Given the description of an element on the screen output the (x, y) to click on. 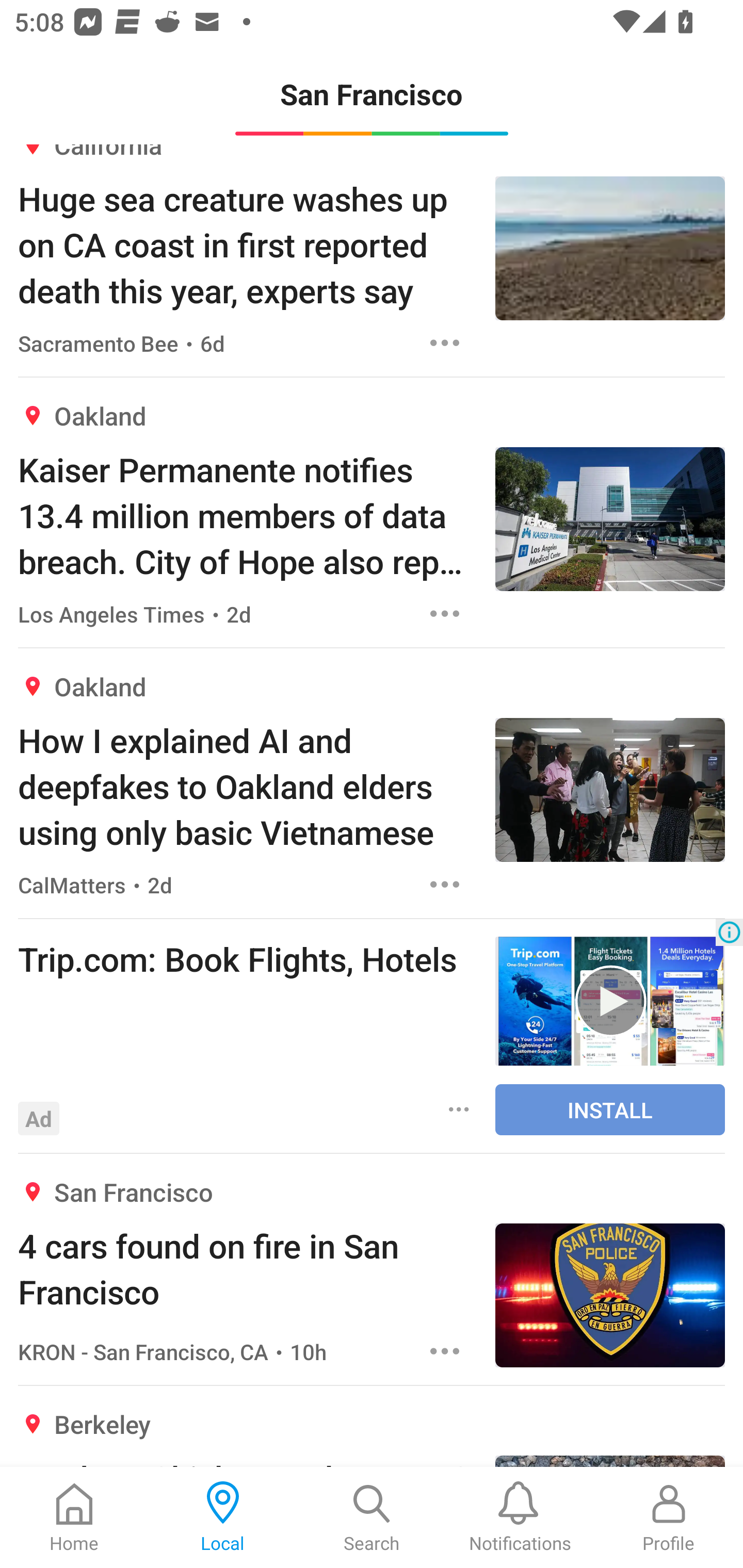
Options (444, 343)
Options (444, 613)
Options (444, 884)
Ad Choices Icon (729, 931)
Trip.com: Book Flights, Hotels (247, 958)
INSTALL (610, 1109)
Options (459, 1109)
Options (444, 1351)
Home (74, 1517)
Search (371, 1517)
Notifications (519, 1517)
Profile (668, 1517)
